Given the description of an element on the screen output the (x, y) to click on. 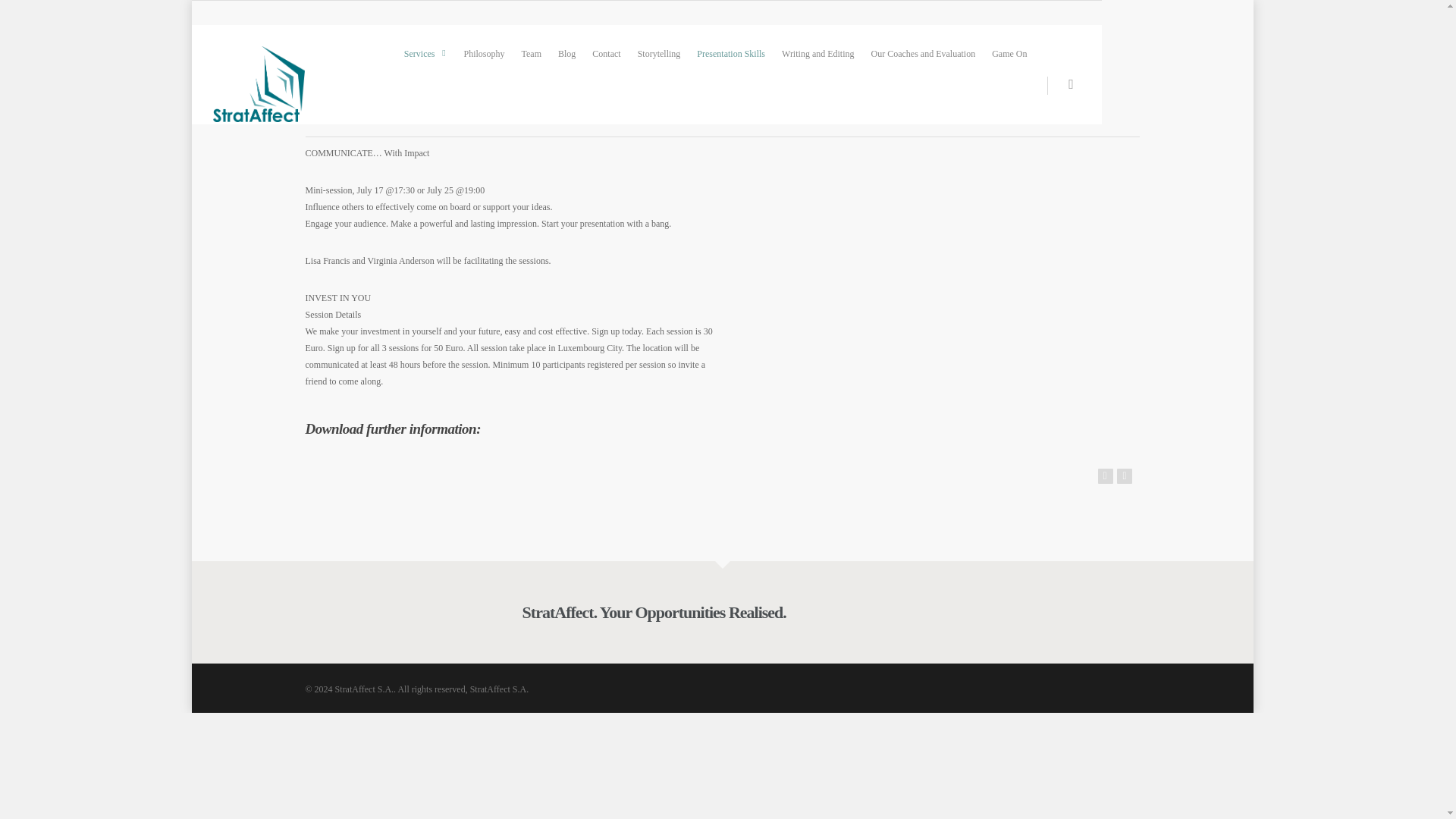
Blog (566, 53)
Game On (1008, 53)
Team (530, 53)
Presentation Skills (730, 53)
Our Coaches and Evaluation (923, 53)
Philosophy (484, 53)
Contact (606, 53)
Services (425, 53)
Writing and Editing (817, 53)
Storytelling (659, 53)
